Given the description of an element on the screen output the (x, y) to click on. 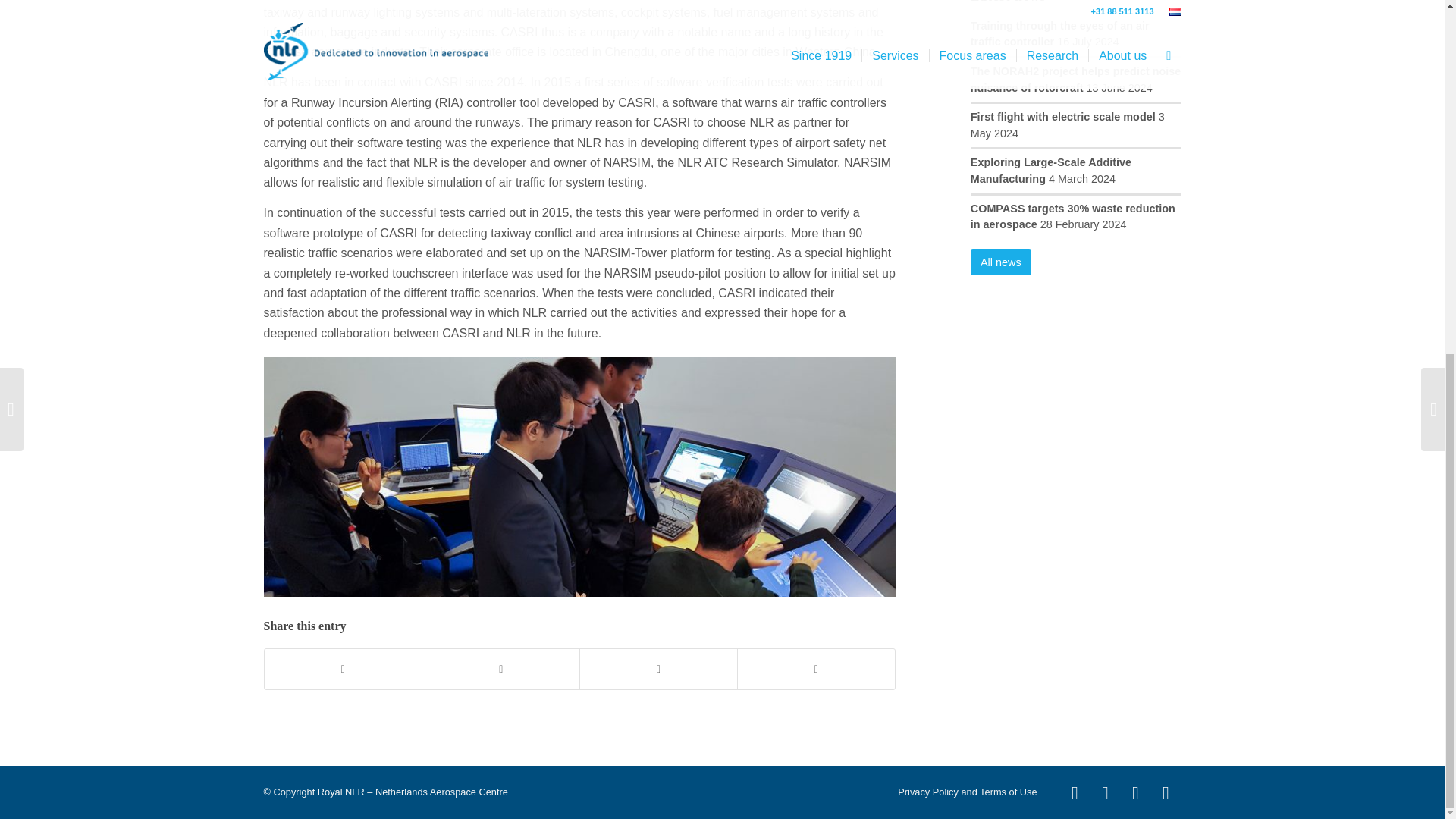
Twitter (1136, 793)
Youtube (1074, 793)
Facebook (1165, 793)
LinkedIn (1105, 793)
